Given the description of an element on the screen output the (x, y) to click on. 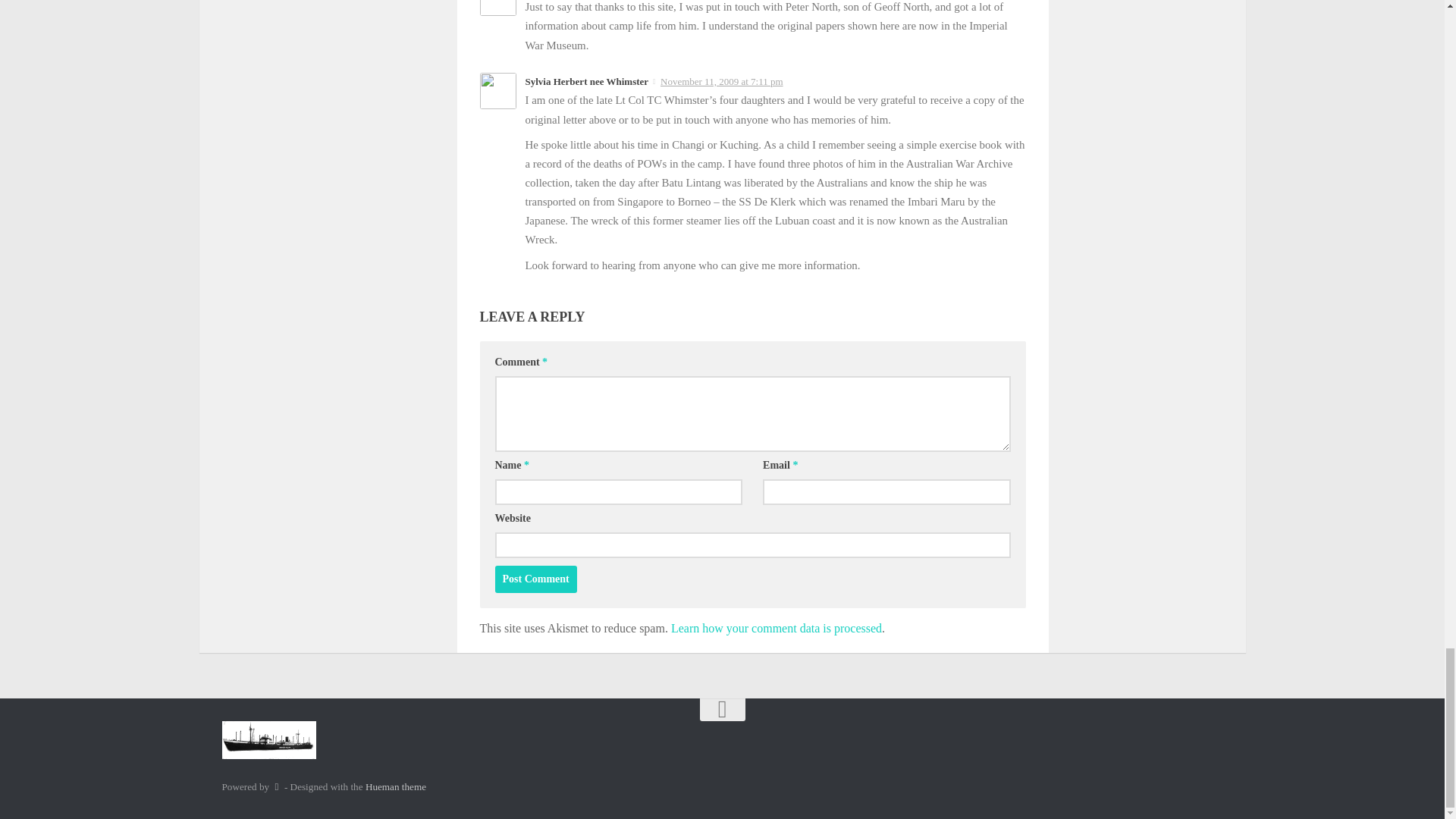
Post Comment (535, 578)
